Given the description of an element on the screen output the (x, y) to click on. 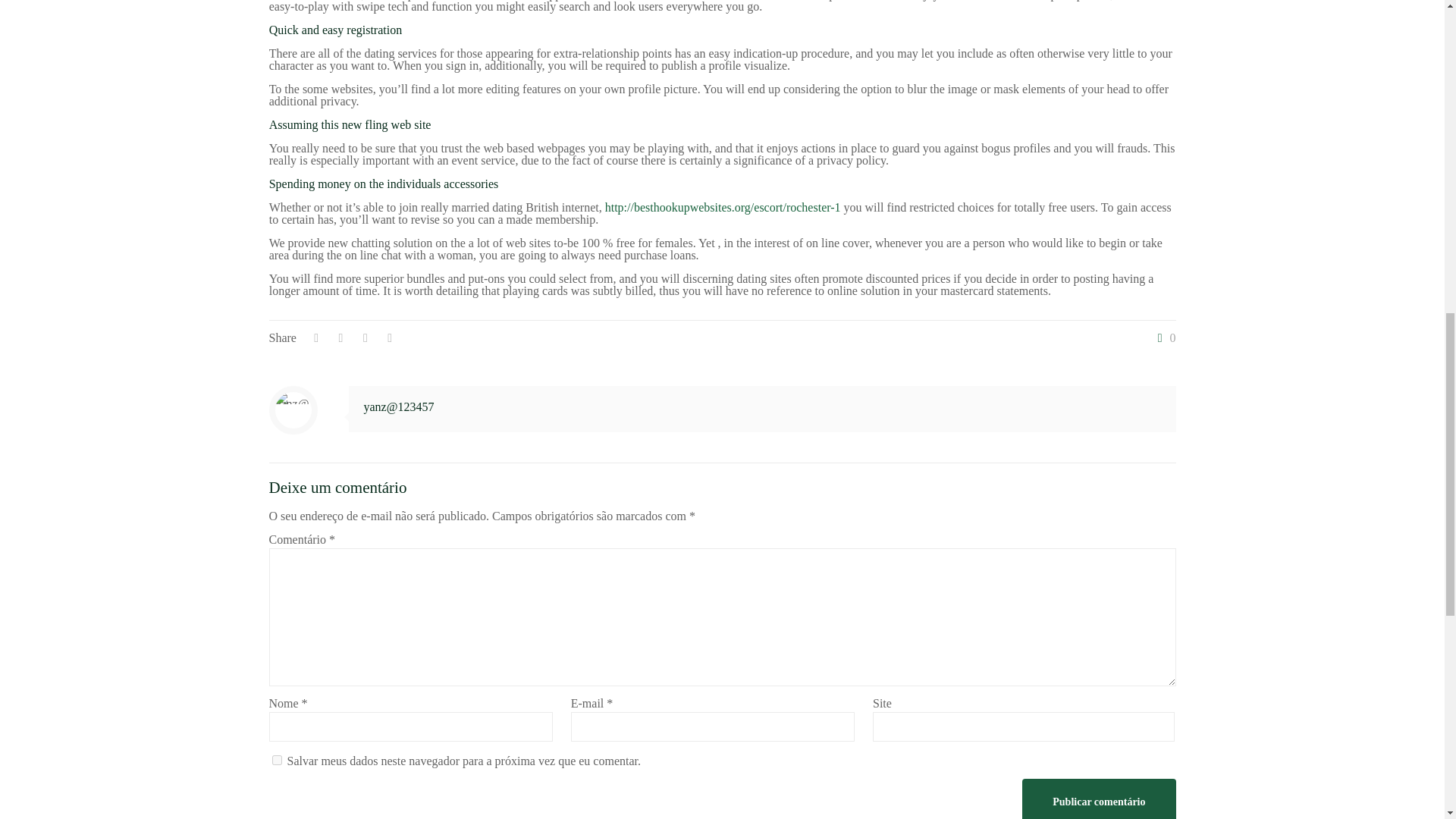
0 (1162, 337)
yes (275, 759)
